Given the description of an element on the screen output the (x, y) to click on. 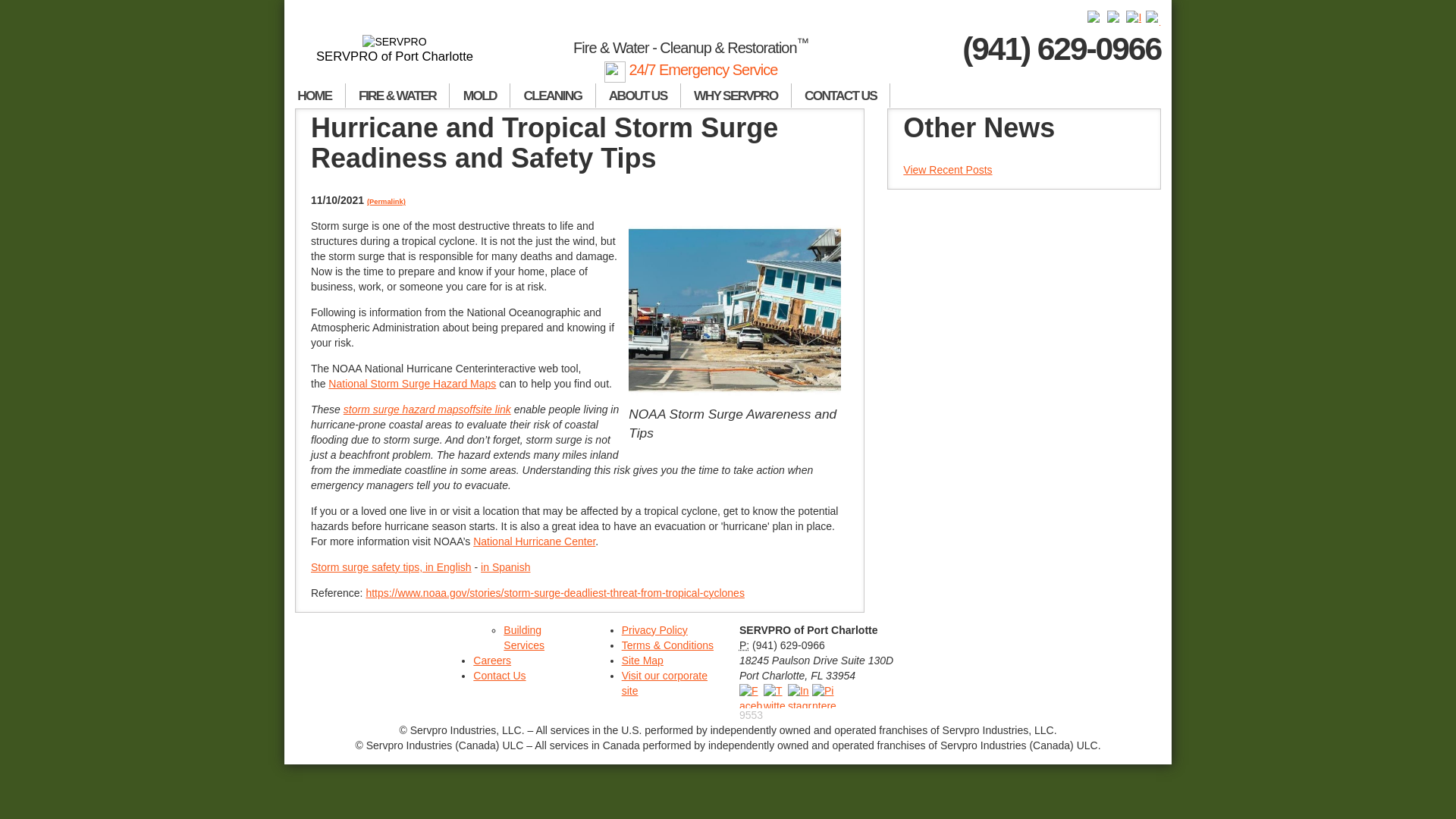
CLEANING (553, 95)
SERVPRO of Port Charlotte (395, 49)
ABOUT US (638, 95)
MOLD (480, 95)
HOME (314, 95)
